Given the description of an element on the screen output the (x, y) to click on. 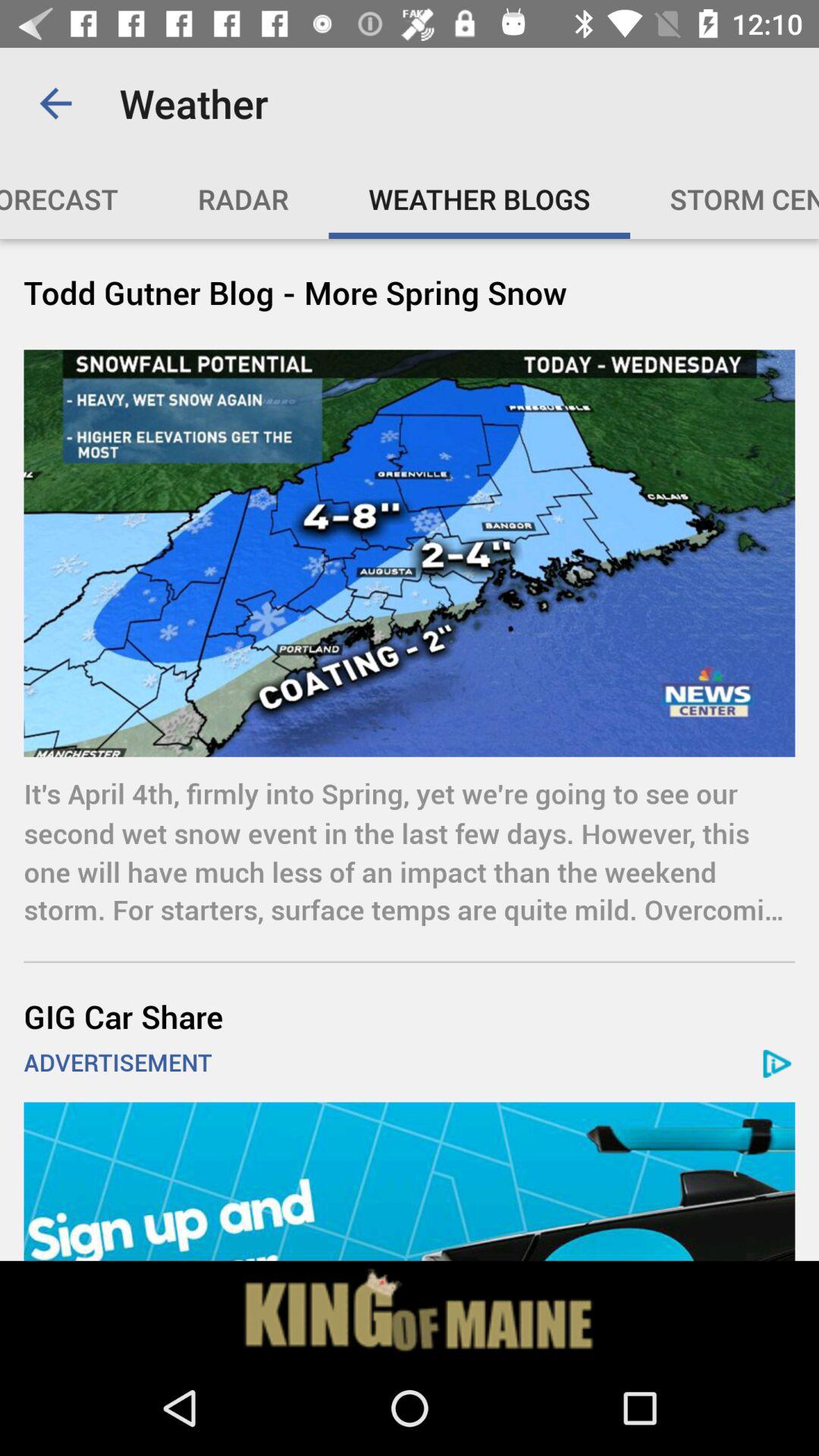
tap icon to the left of the weather app (55, 103)
